Given the description of an element on the screen output the (x, y) to click on. 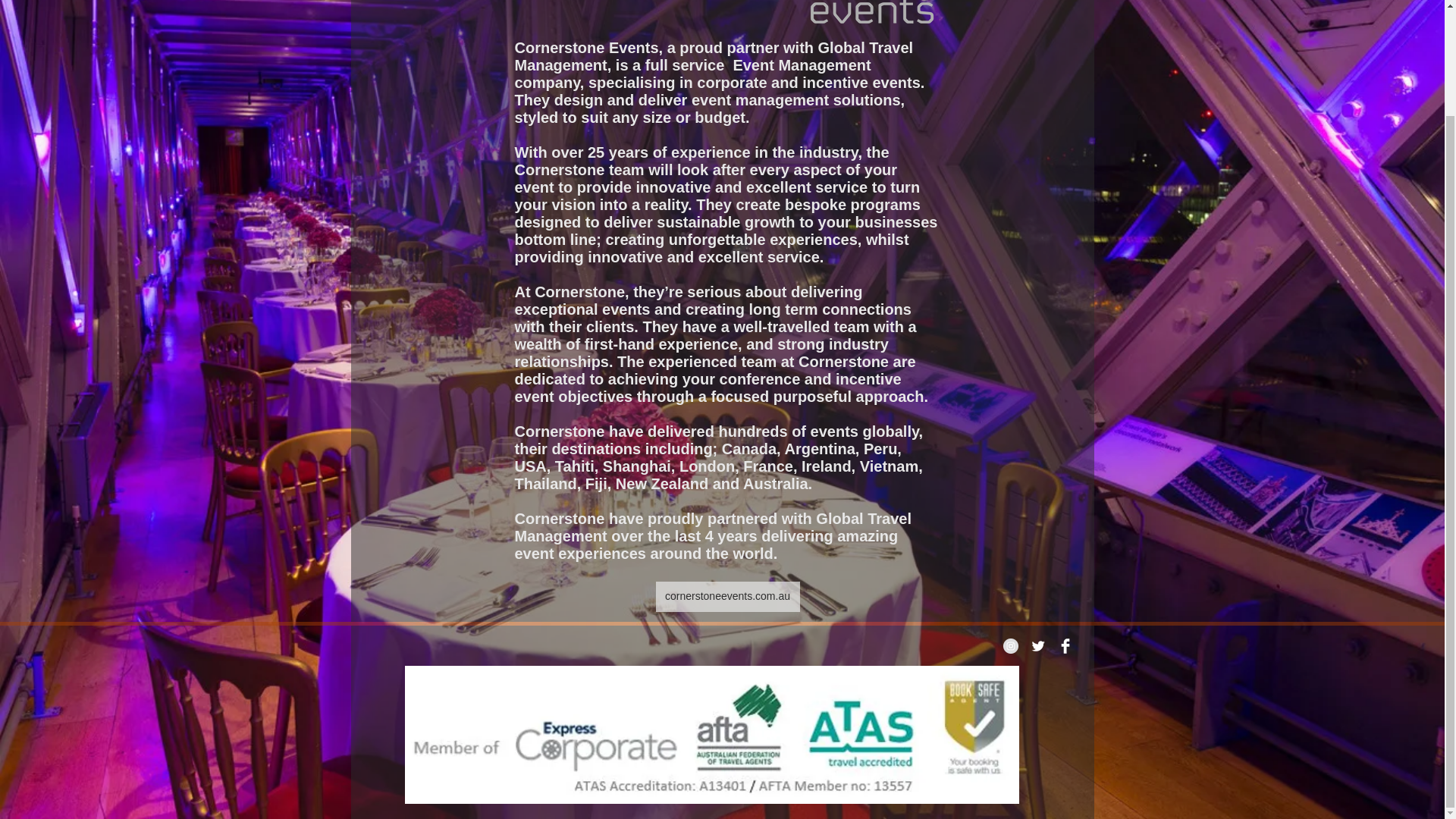
cornerstoneevents.com.au (727, 596)
